Given the description of an element on the screen output the (x, y) to click on. 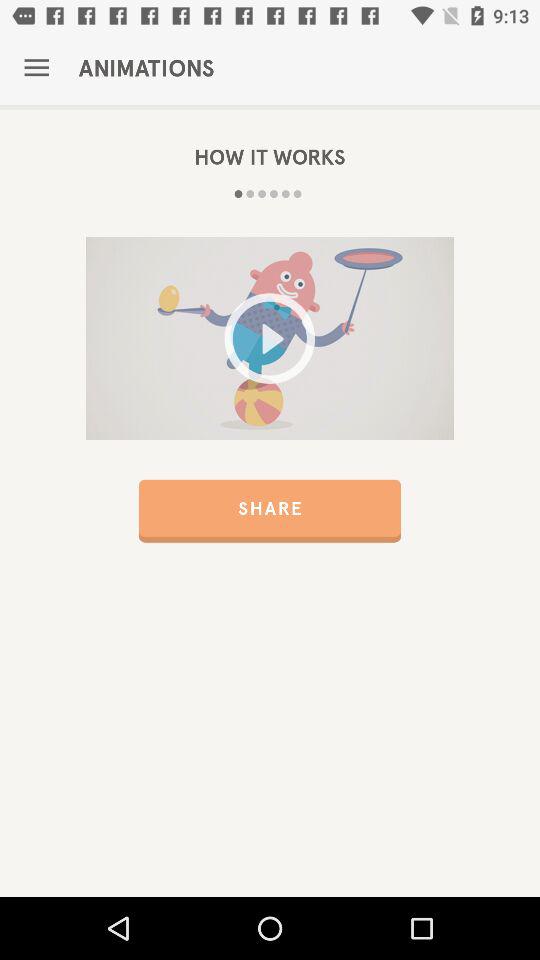
scroll until the share item (269, 510)
